Given the description of an element on the screen output the (x, y) to click on. 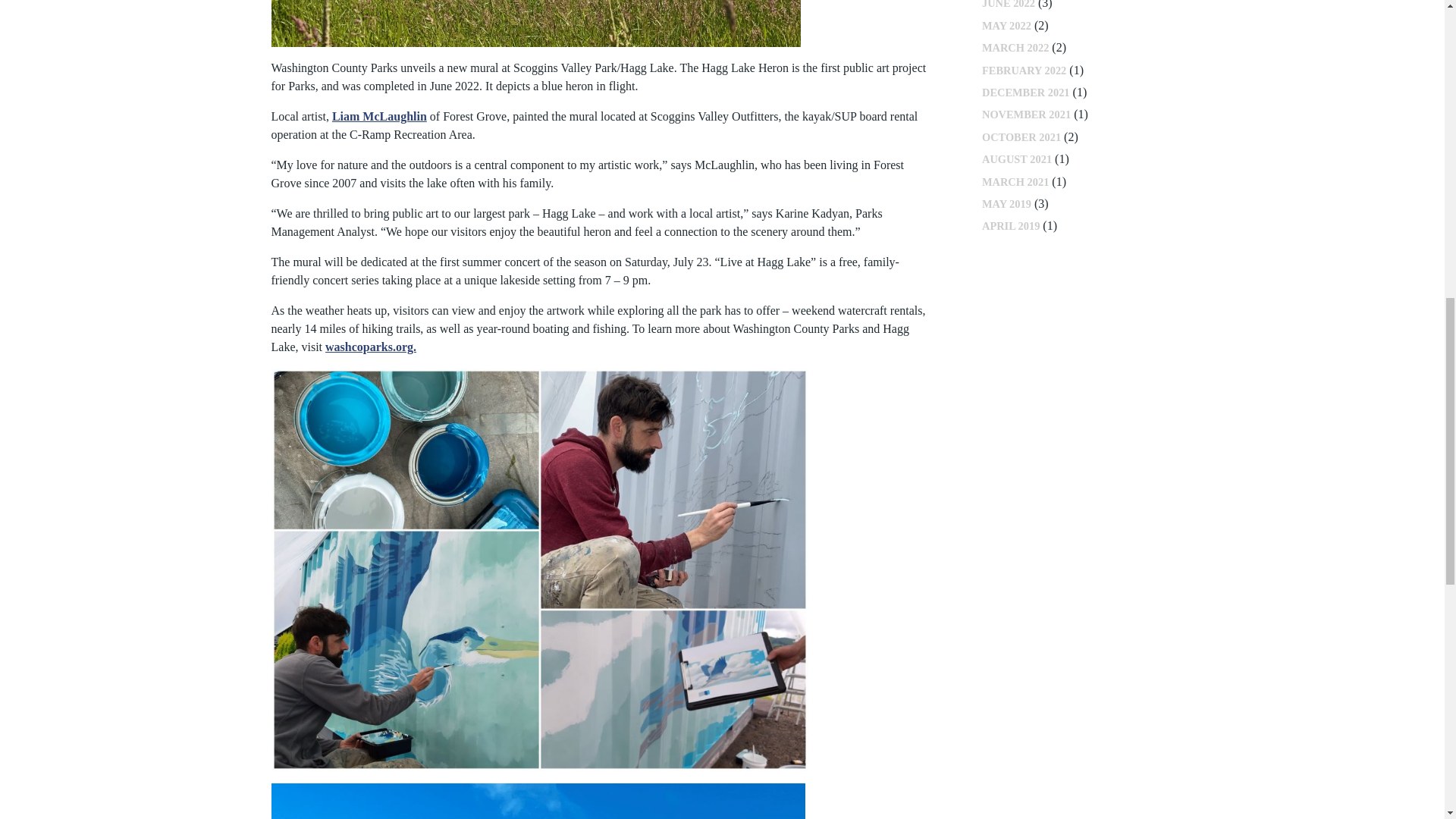
washcoparks.org. (370, 346)
Liam McLaughlin (378, 115)
